Given the description of an element on the screen output the (x, y) to click on. 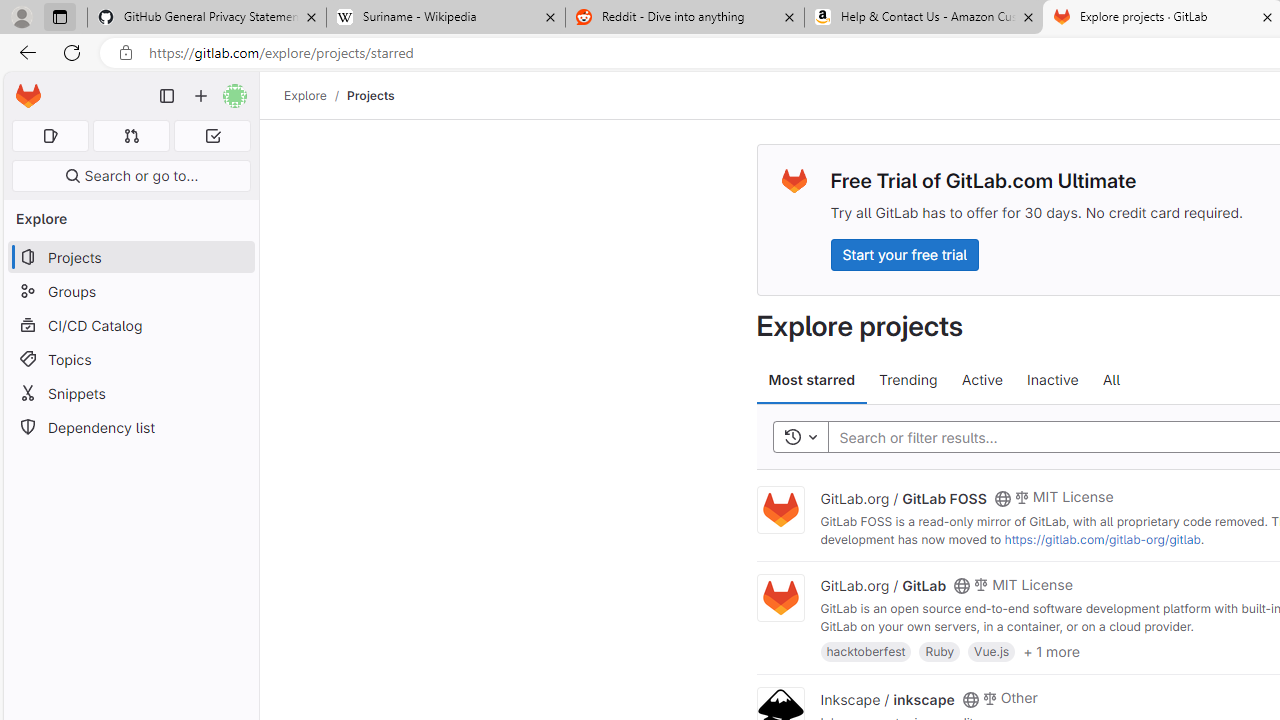
Suriname - Wikipedia (445, 17)
+ 1 more (1051, 650)
Topics (130, 358)
Topics (130, 358)
Primary navigation sidebar (167, 96)
Class: s16 (970, 699)
Skip to main content (23, 87)
Groups (130, 291)
CI/CD Catalog (130, 325)
Projects (370, 95)
